Given the description of an element on the screen output the (x, y) to click on. 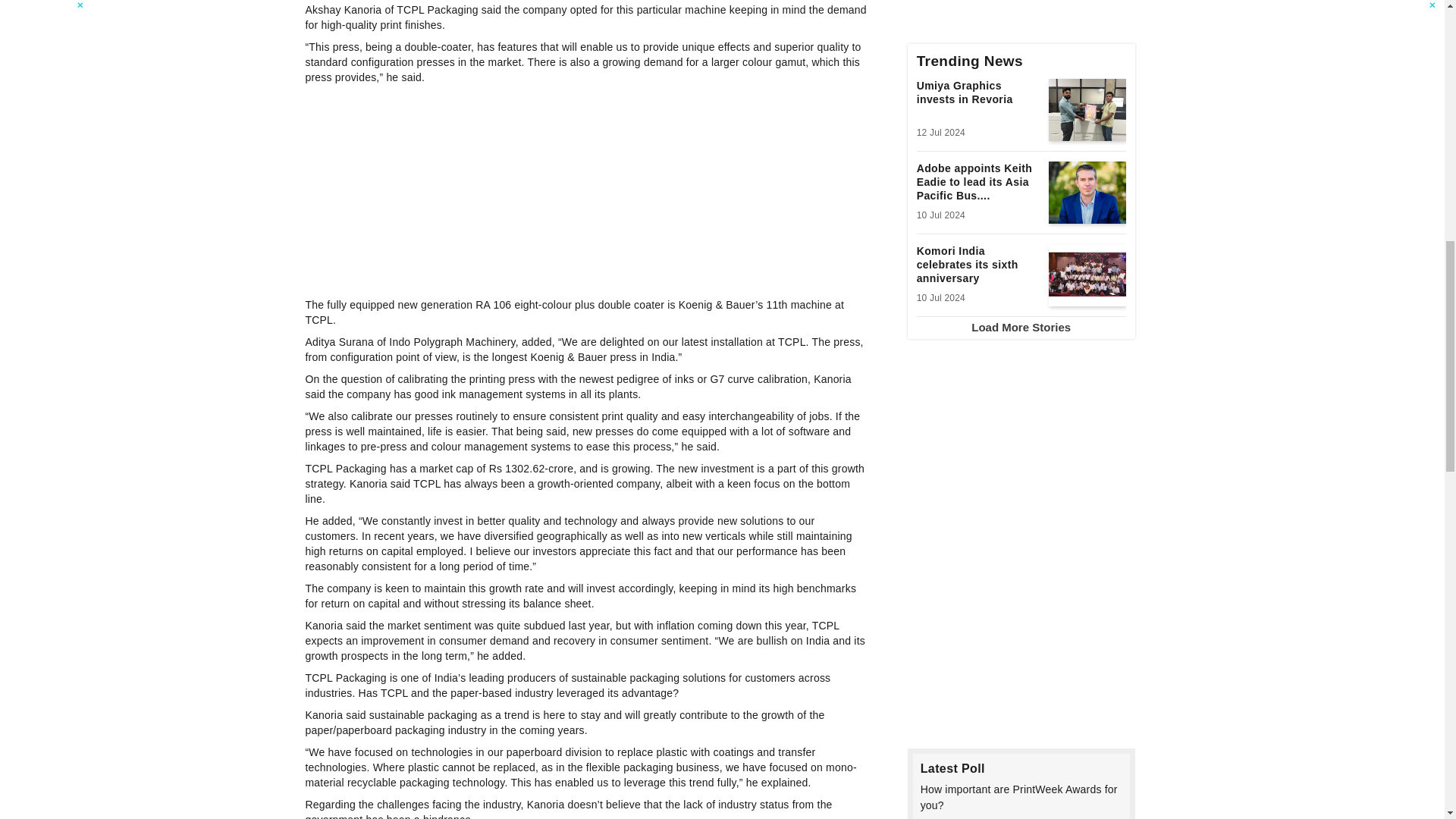
Adobe appoints Keith Eadie to lead its Asia Pacific Bus.... (979, 184)
Umiya Graphics invests in Revoria (979, 101)
